Given the description of an element on the screen output the (x, y) to click on. 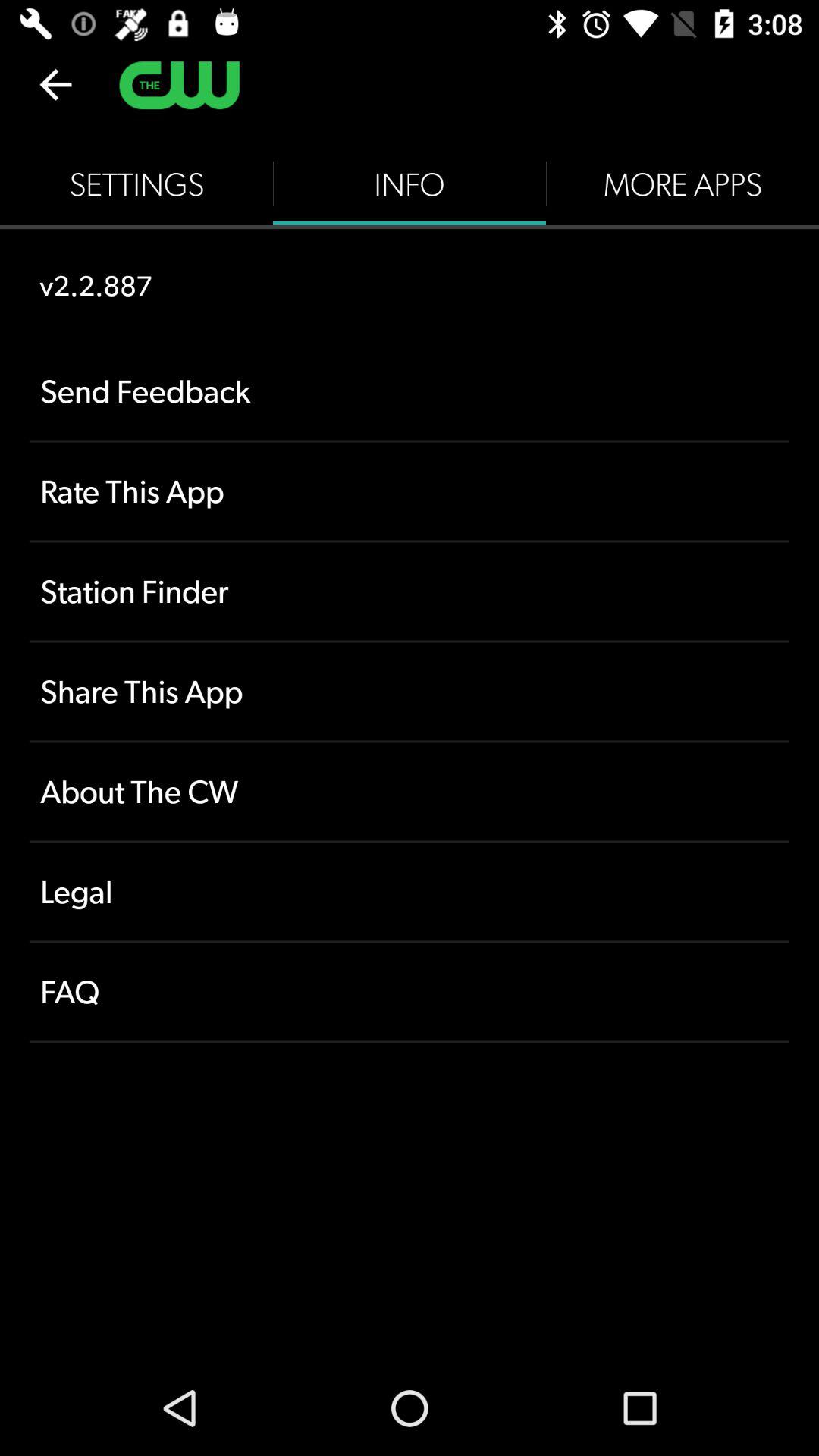
scroll to settings icon (136, 184)
